Given the description of an element on the screen output the (x, y) to click on. 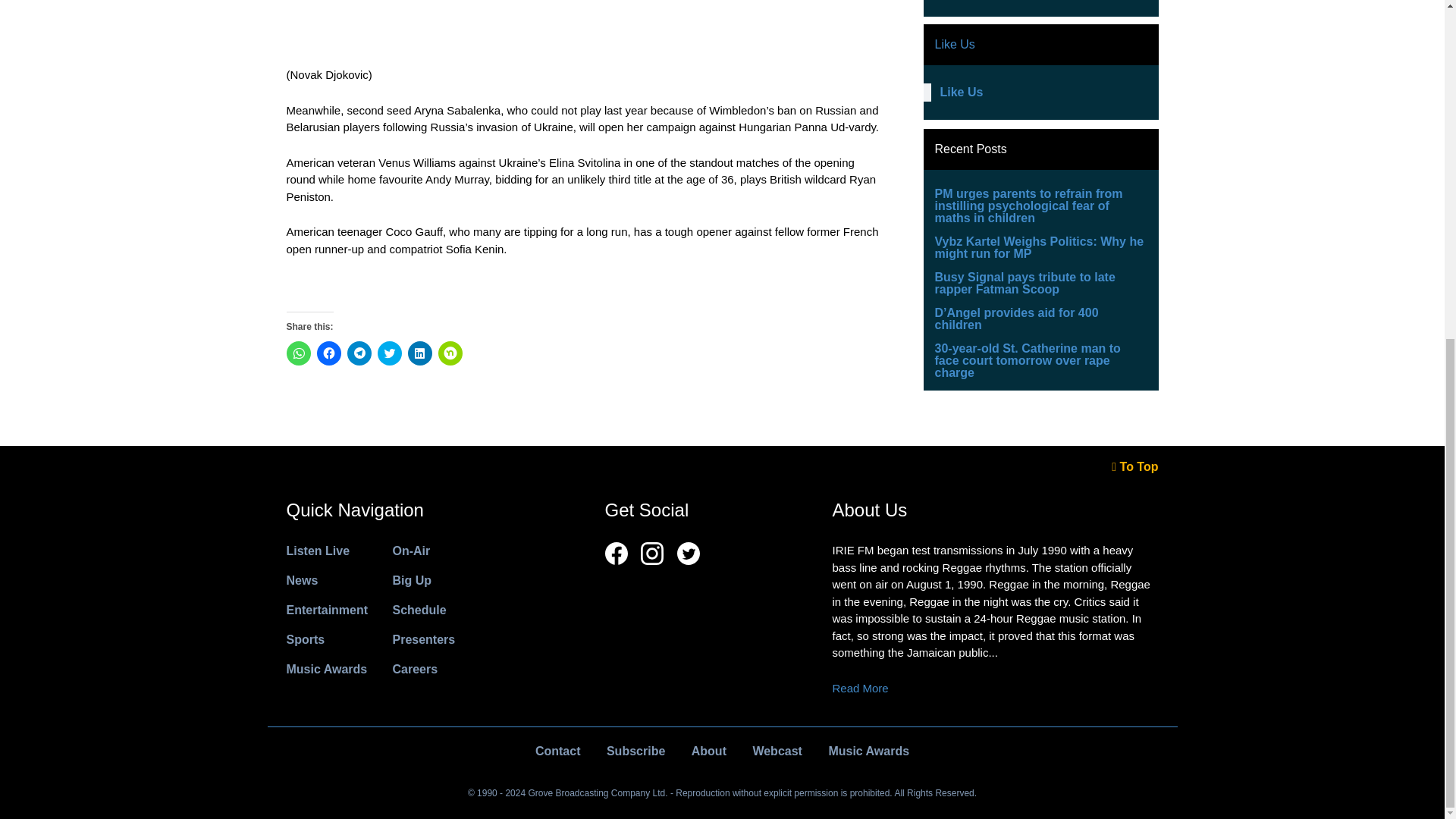
Click to share on Facebook (328, 353)
Click to share on Nextdoor (450, 353)
Like Us (954, 43)
Click to share on WhatsApp (298, 353)
Vybz Kartel Weighs Politics: Why he might run for MP (1038, 247)
Click to share on Telegram (359, 353)
Click to share on Twitter (389, 353)
Busy Signal pays tribute to late rapper Fatman Scoop (1024, 283)
Like Us (962, 91)
YouTube video player (1040, 5)
